Given the description of an element on the screen output the (x, y) to click on. 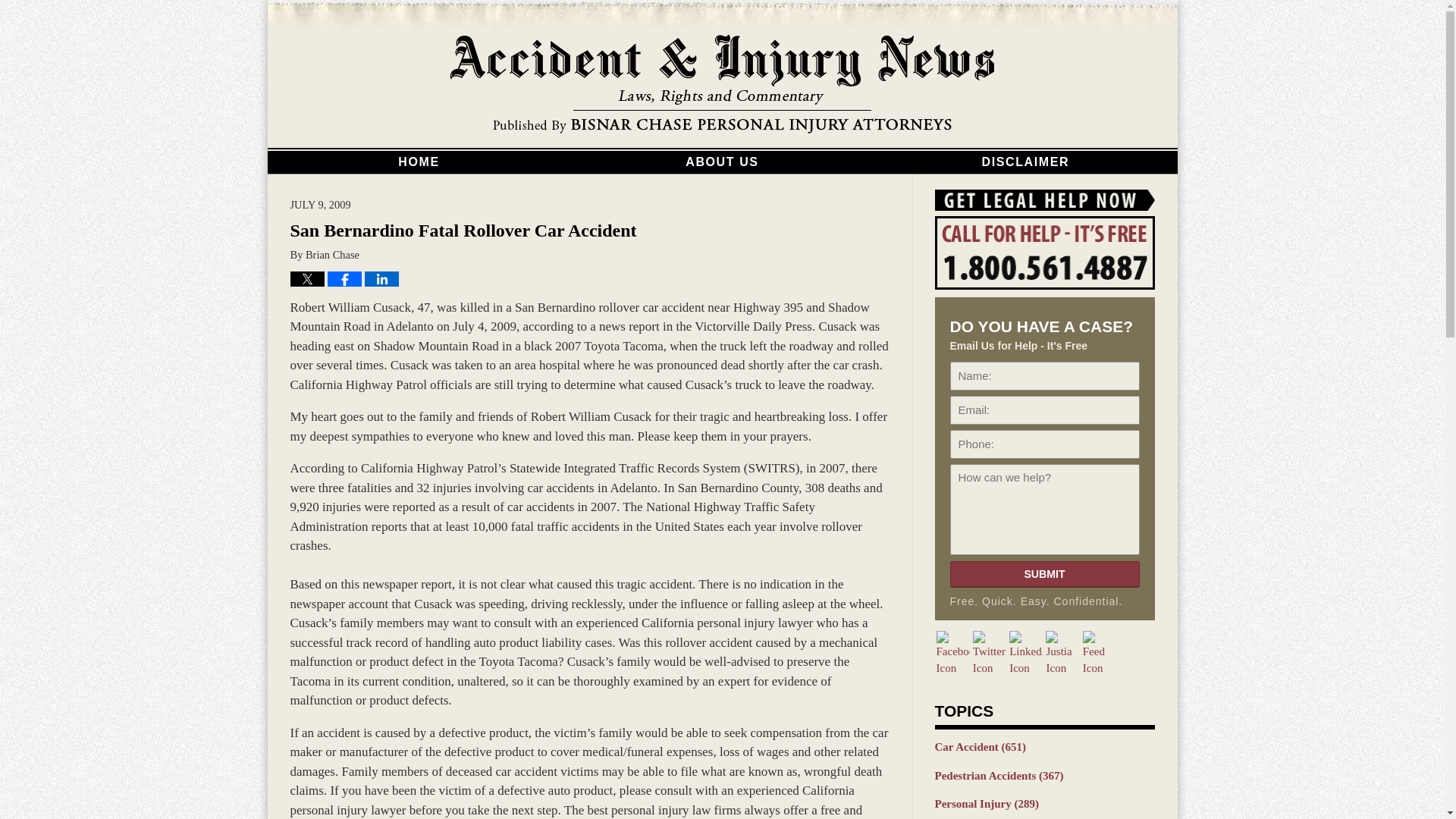
SUBMIT (1043, 574)
DISCLAIMER (1024, 161)
California Injury Blog (721, 84)
ABOUT US (721, 161)
Please enter a valid phone number. (1043, 443)
HOME (418, 161)
